Given the description of an element on the screen output the (x, y) to click on. 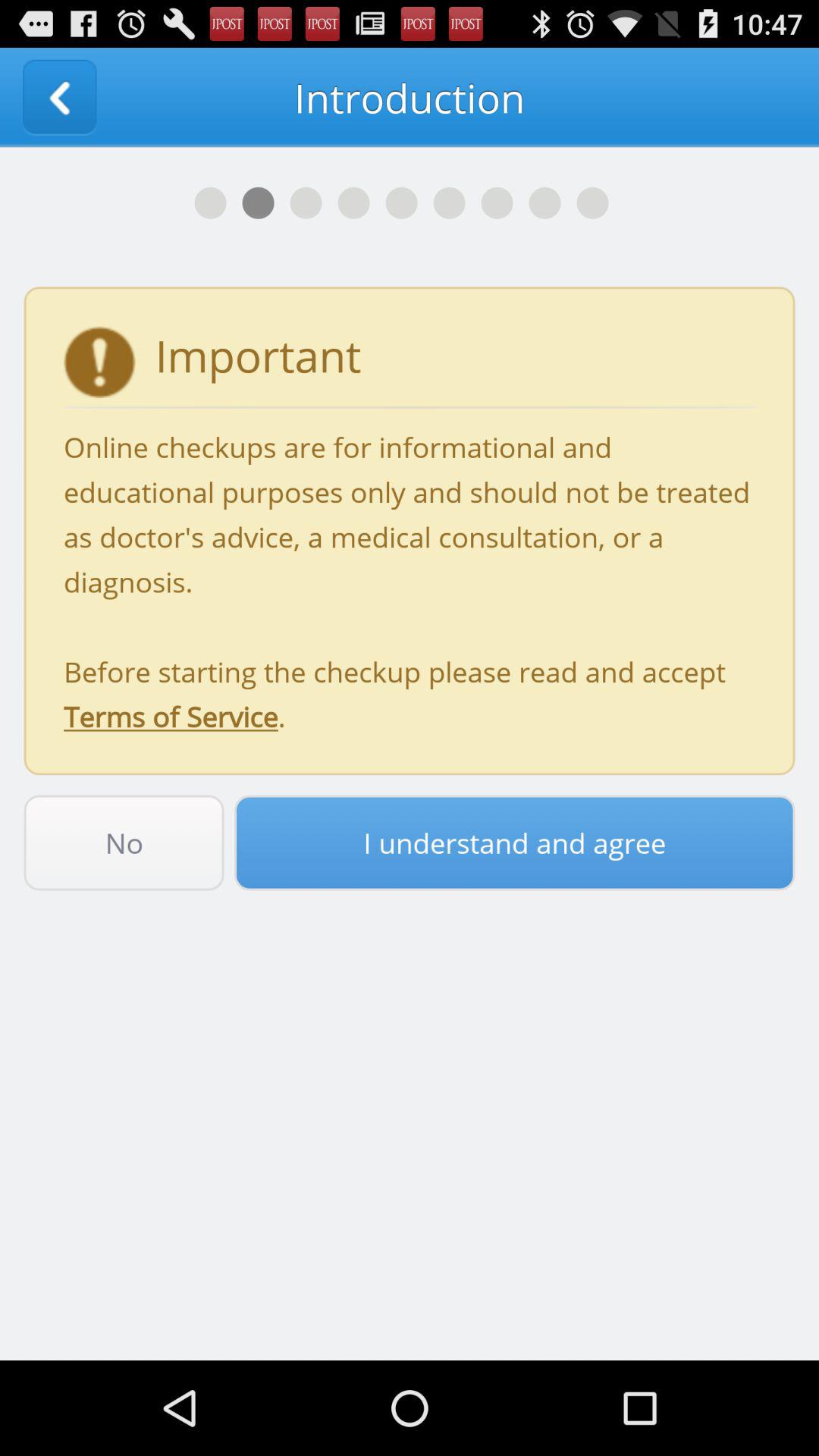
tap i understand and icon (514, 842)
